Given the description of an element on the screen output the (x, y) to click on. 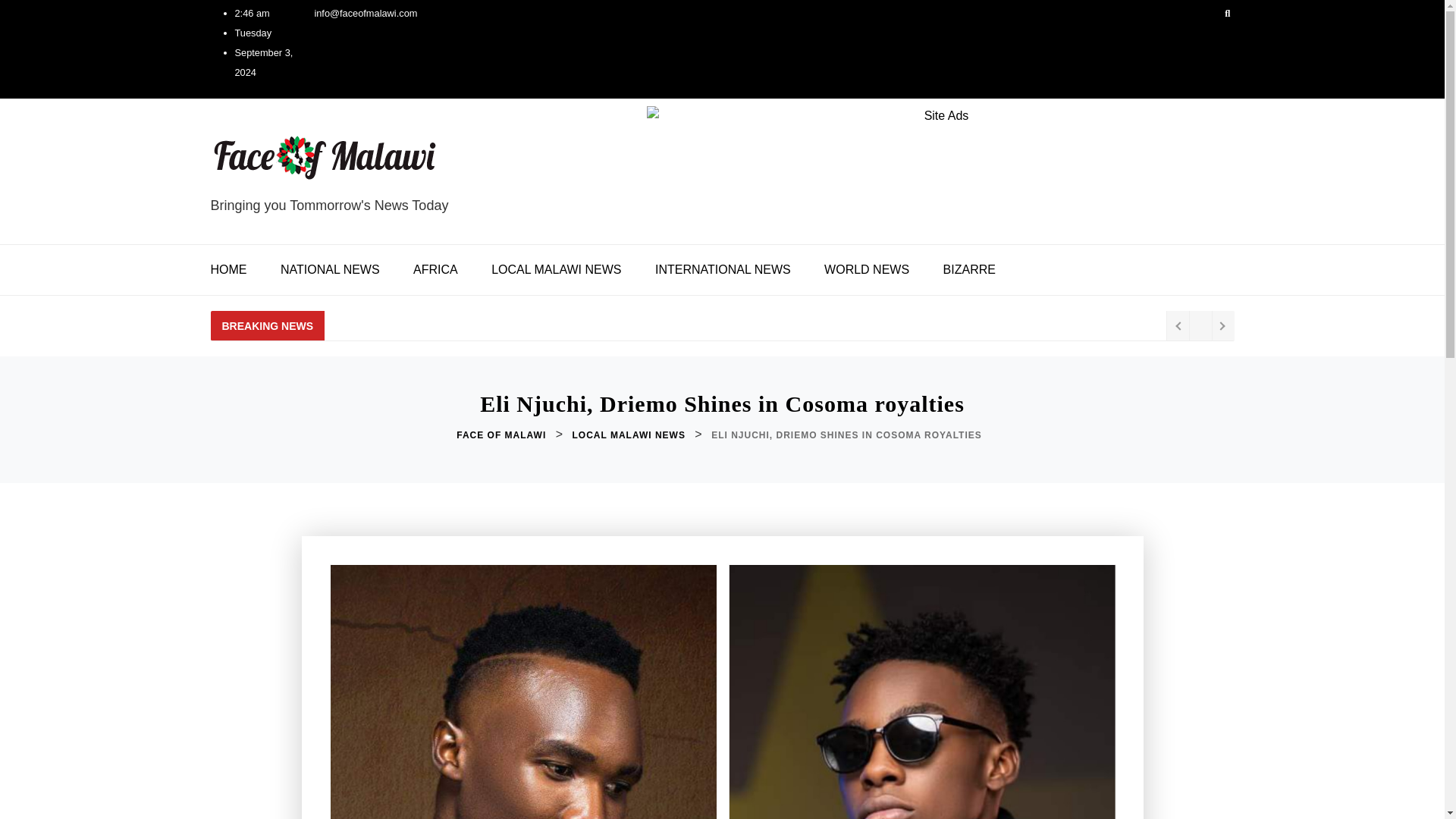
LOCAL MALAWI NEWS (556, 269)
WORLD NEWS (866, 269)
FACE OF MALAWI (502, 435)
AFRICA (435, 269)
Go to Face of Malawi. (502, 435)
HOME (236, 269)
BIZARRE (969, 269)
LOCAL MALAWI NEWS (629, 435)
Go to the Local Malawi News Category archives. (629, 435)
NATIONAL NEWS (329, 269)
